Given the description of an element on the screen output the (x, y) to click on. 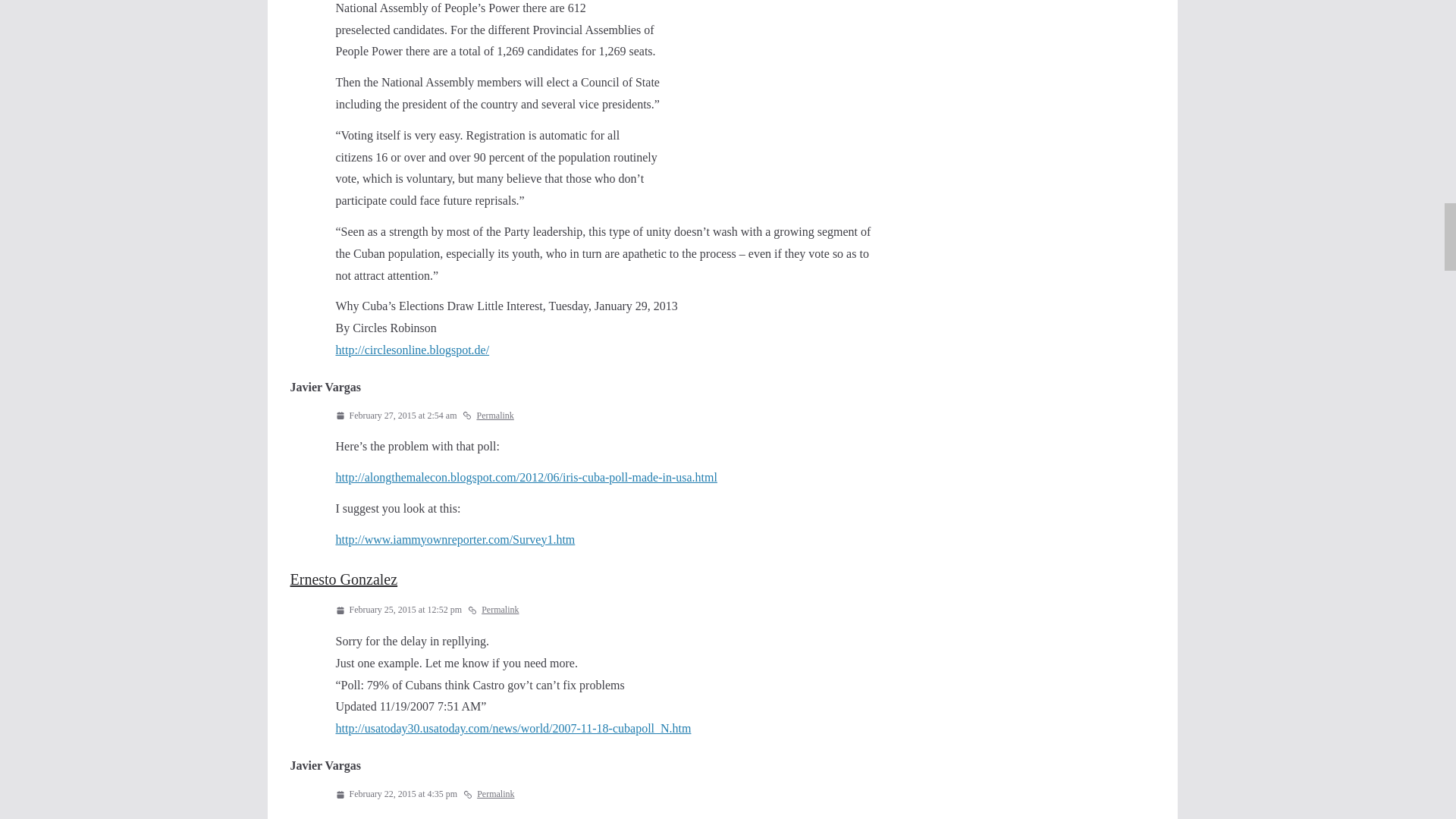
Permalink (488, 416)
Permalink (492, 610)
Ernesto Gonzalez (343, 578)
